Given the description of an element on the screen output the (x, y) to click on. 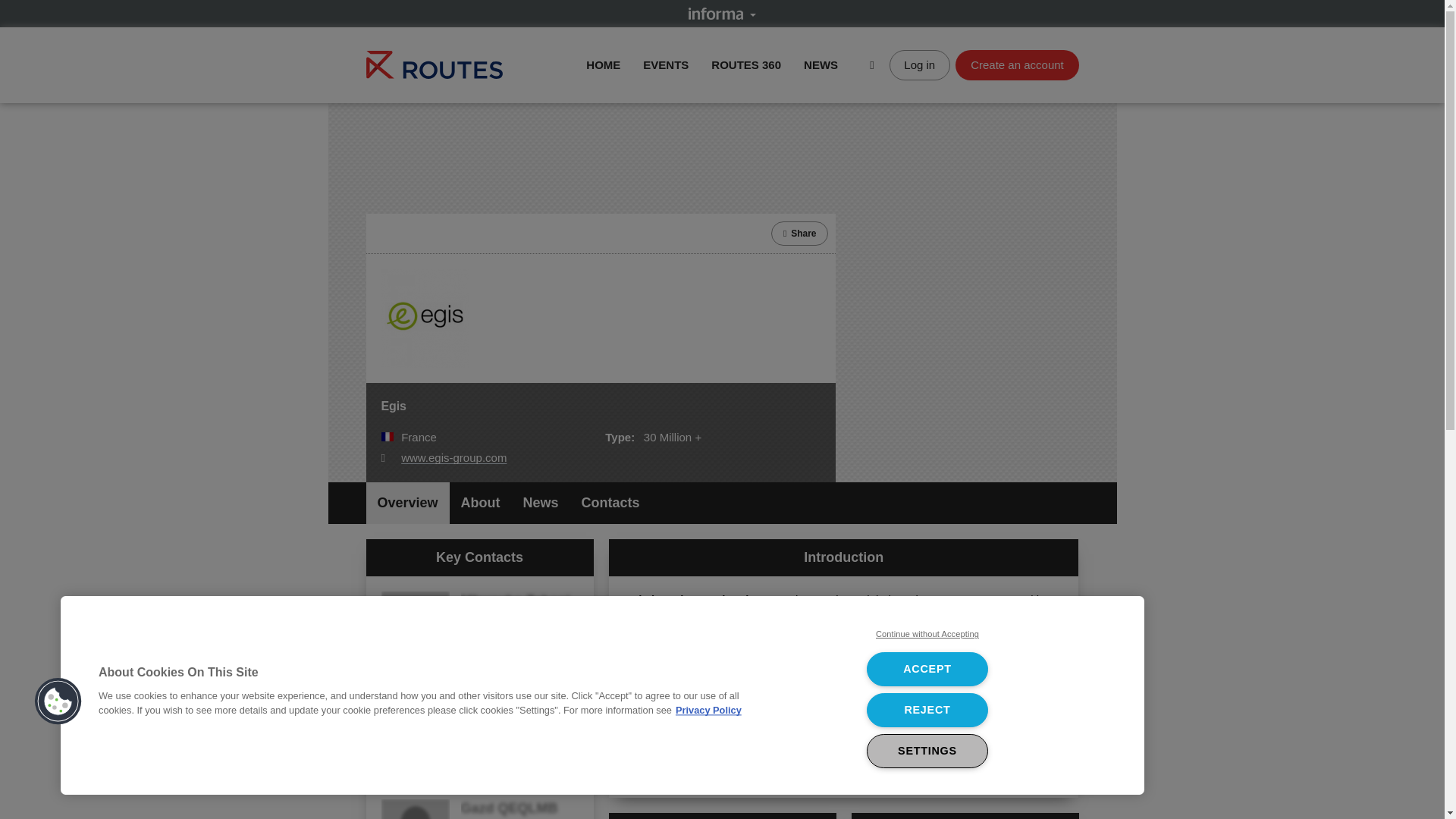
ROUTES 360 (745, 64)
Cookies Button (57, 701)
HOME (603, 64)
Create an account (1016, 64)
NEWS (820, 64)
Routes (433, 64)
Log in (919, 64)
EVENTS (665, 64)
